Given the description of an element on the screen output the (x, y) to click on. 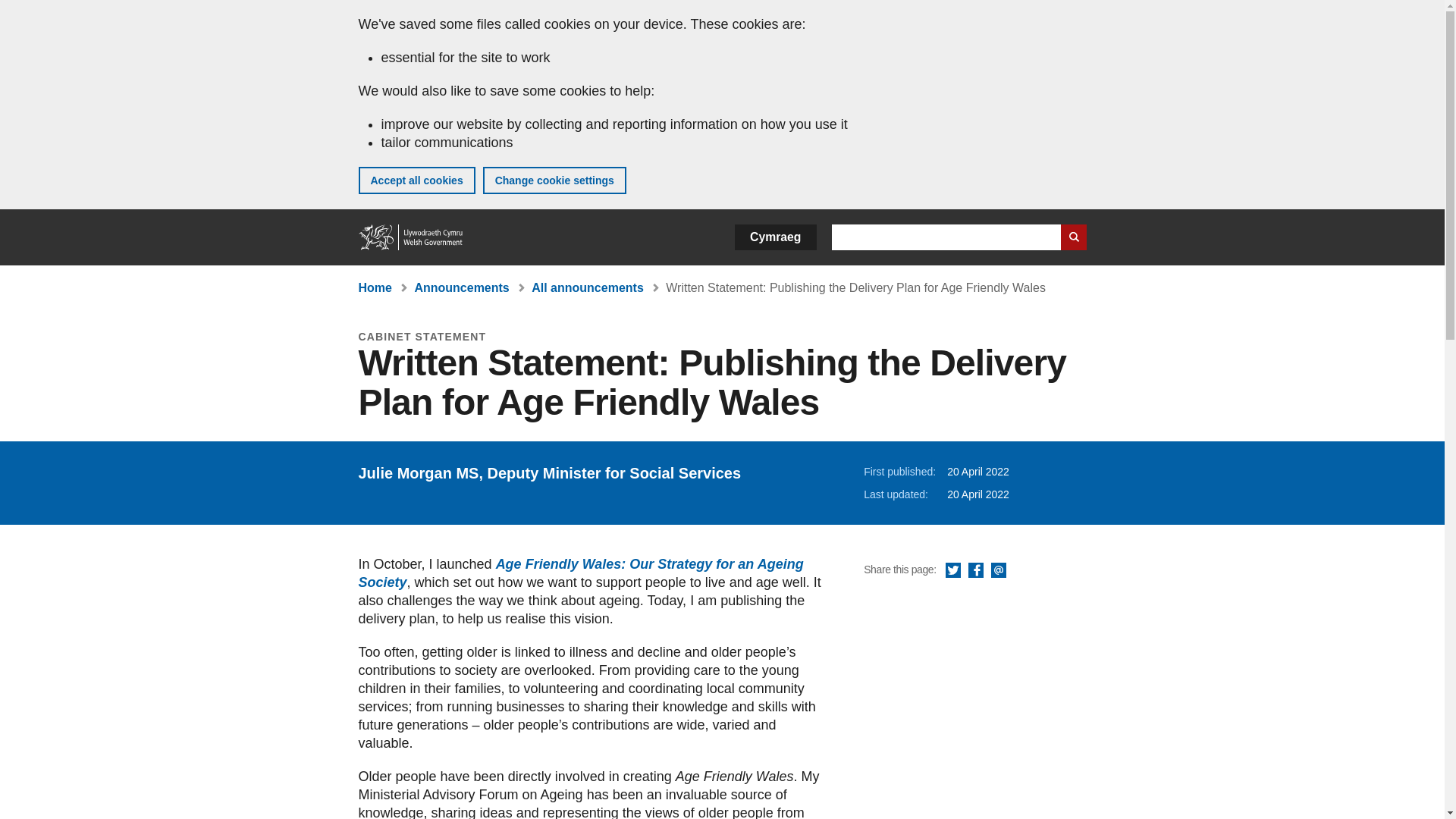
Home (411, 237)
Welsh Government (411, 237)
Home (374, 287)
Search website (1072, 237)
Skip to main content (22, 11)
Twitter (952, 570)
Cymraeg (775, 237)
Change cookie settings (554, 180)
Announcements (460, 287)
Facebook (976, 570)
